Given the description of an element on the screen output the (x, y) to click on. 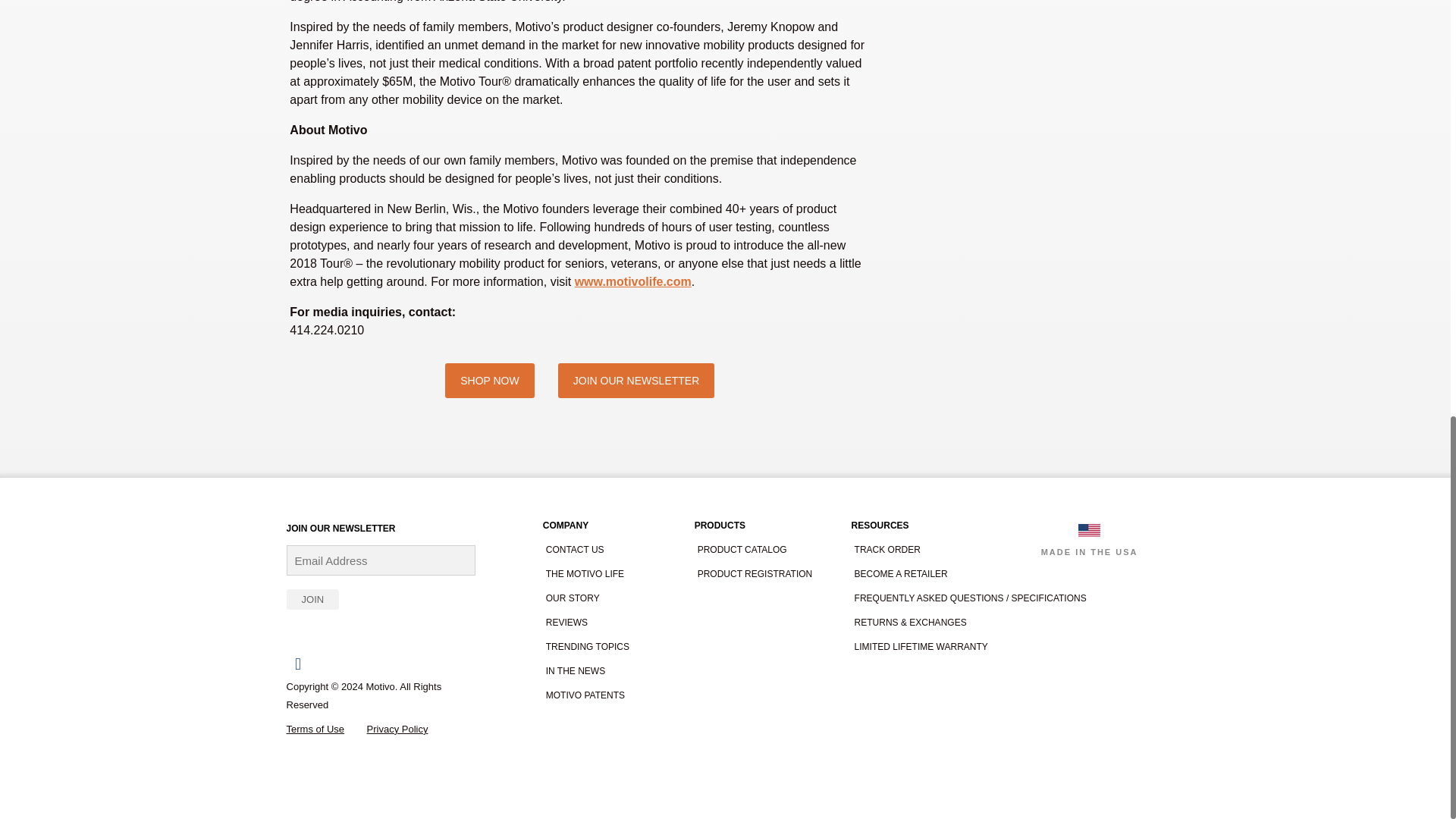
www.motivolife.com (633, 281)
SHOP NOW (489, 380)
Join (312, 598)
JOIN OUR NEWSLETTER (635, 380)
